Given the description of an element on the screen output the (x, y) to click on. 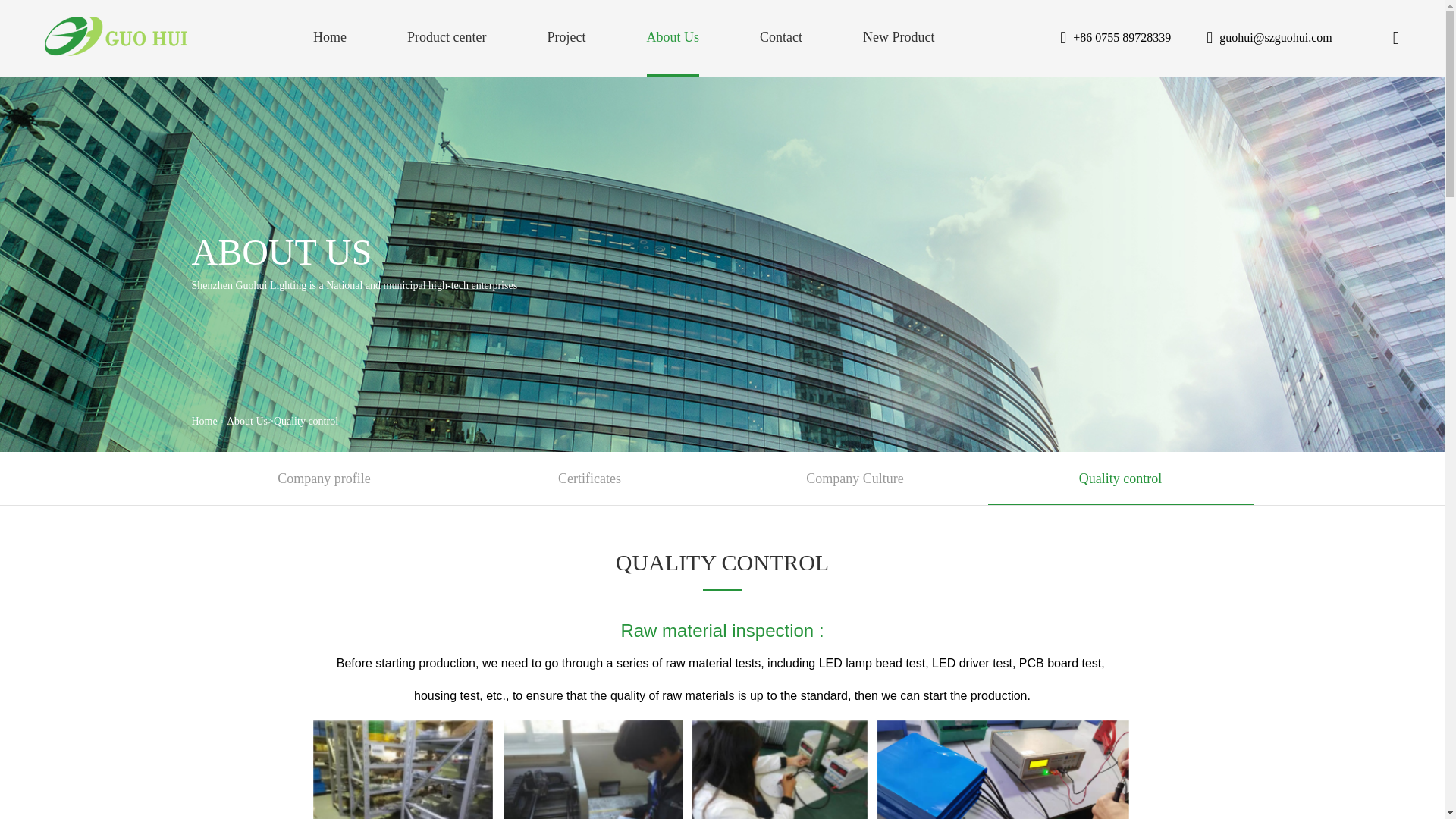
About Us (247, 421)
Project (566, 37)
Quality control (1119, 478)
Company Culture (854, 478)
Certificates (589, 478)
Contact (781, 37)
Home (203, 421)
raw materials.PNG (721, 768)
Home (329, 37)
About Us (673, 37)
Quality control (305, 421)
New Product (898, 37)
Company profile (323, 478)
Product center (446, 37)
